Given the description of an element on the screen output the (x, y) to click on. 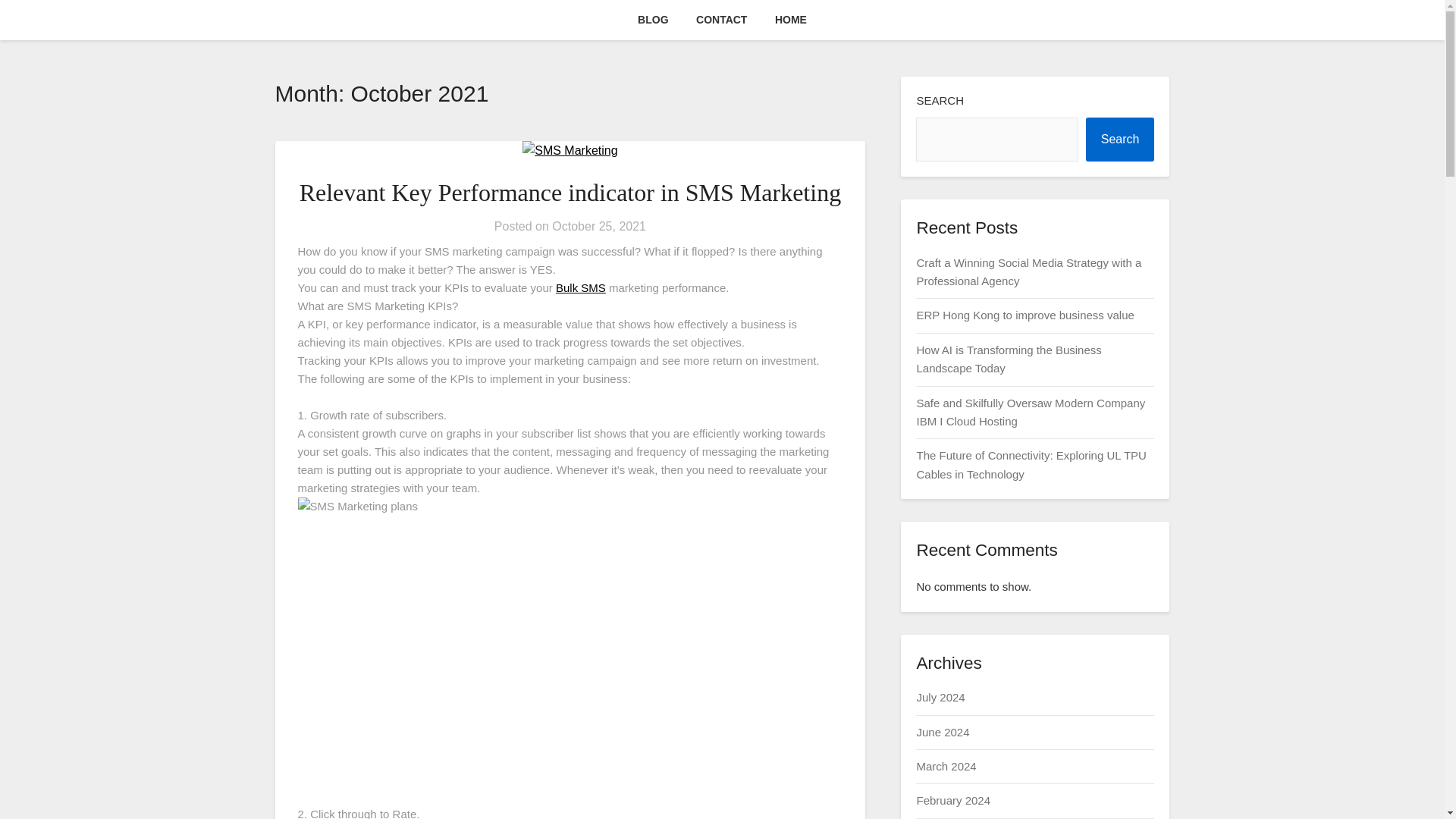
Search (1120, 139)
July 2024 (939, 697)
March 2024 (945, 766)
Bulk SMS (580, 287)
ERP Hong Kong to improve business value (1024, 314)
HOME (790, 20)
CONTACT (721, 20)
BLOG (652, 20)
February 2024 (952, 799)
October 25, 2021 (598, 226)
June 2024 (942, 731)
How AI is Transforming the Business Landscape Today (1007, 358)
Relevant Key Performance indicator in SMS Marketing (570, 192)
